Given the description of an element on the screen output the (x, y) to click on. 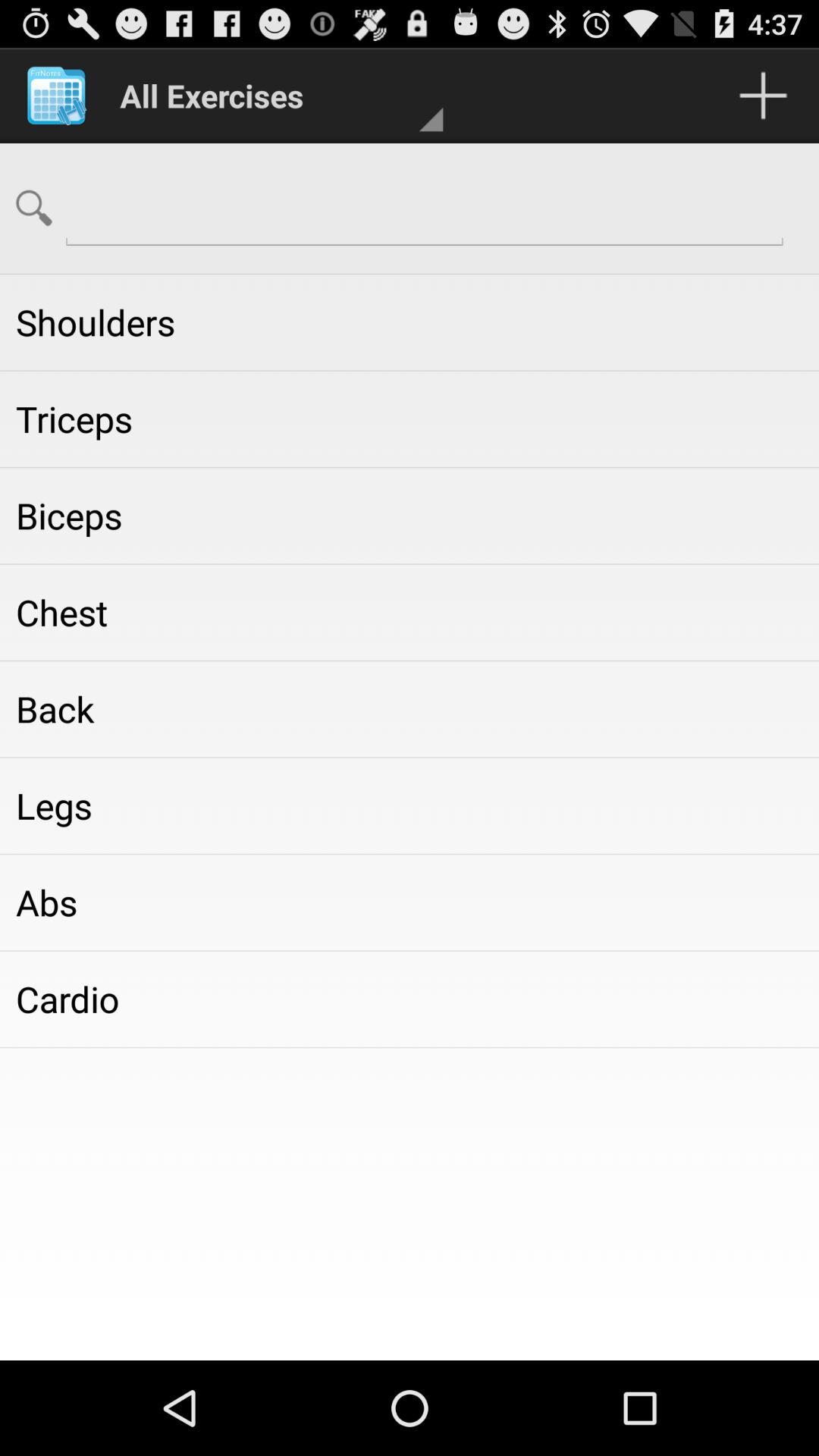
click on search icon (34, 207)
select on all exercises (273, 95)
click on  which is on the top of the page (763, 95)
